Given the description of an element on the screen output the (x, y) to click on. 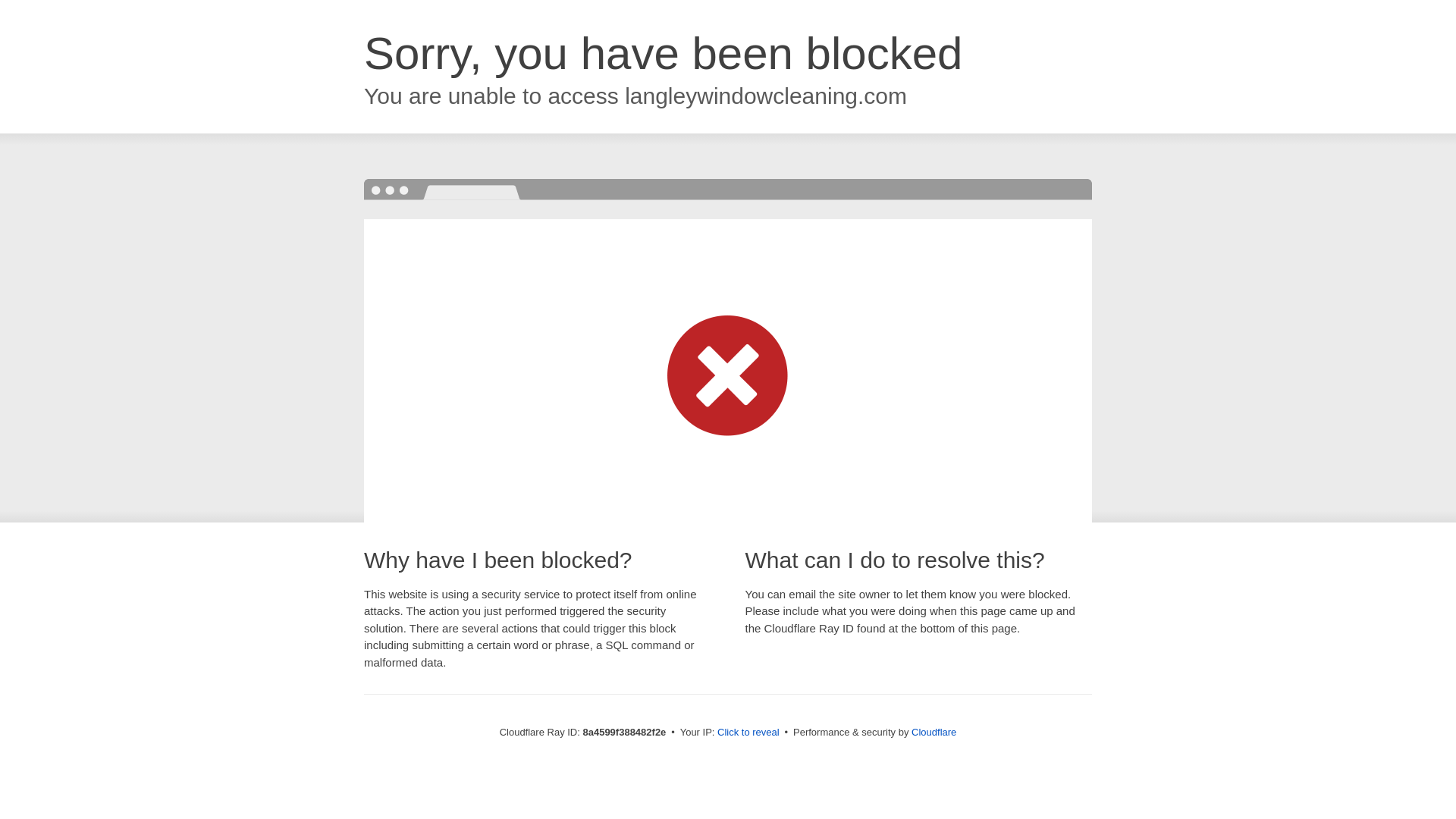
Click to reveal (747, 732)
Cloudflare (933, 731)
